Given the description of an element on the screen output the (x, y) to click on. 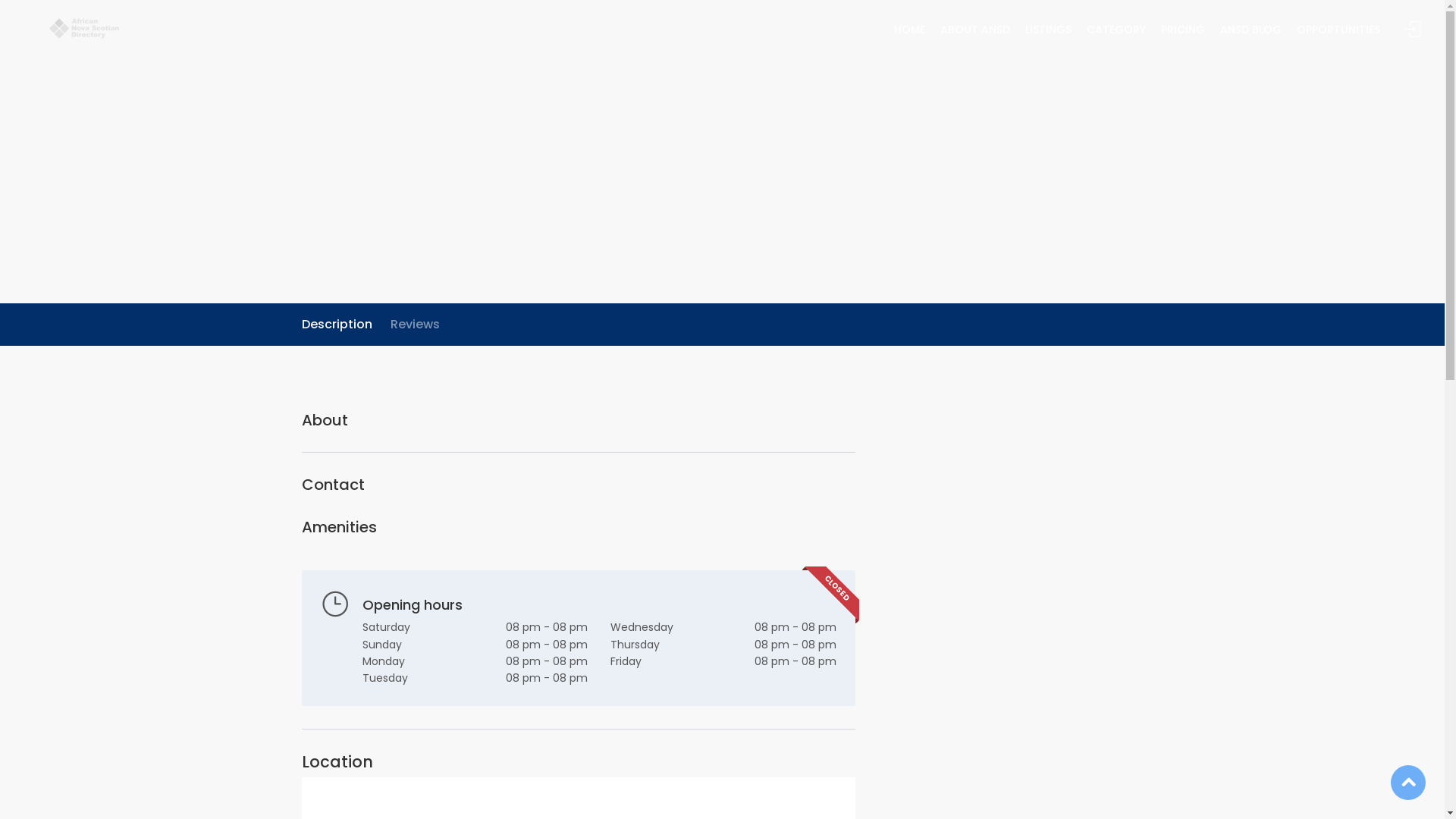
Sign In Element type: text (1413, 29)
Reviews Element type: text (414, 323)
PRICING Element type: text (1182, 35)
HOME Element type: text (909, 35)
African Nova Scotian Directory Element type: hover (84, 26)
CATEGORY Element type: text (1115, 35)
ABOUT ANSD Element type: text (975, 35)
ANSD BLOG Element type: text (1250, 35)
Description Element type: text (336, 323)
LISTINGS Element type: text (1048, 35)
OPPORTUNITIES Element type: text (1338, 35)
